Given the description of an element on the screen output the (x, y) to click on. 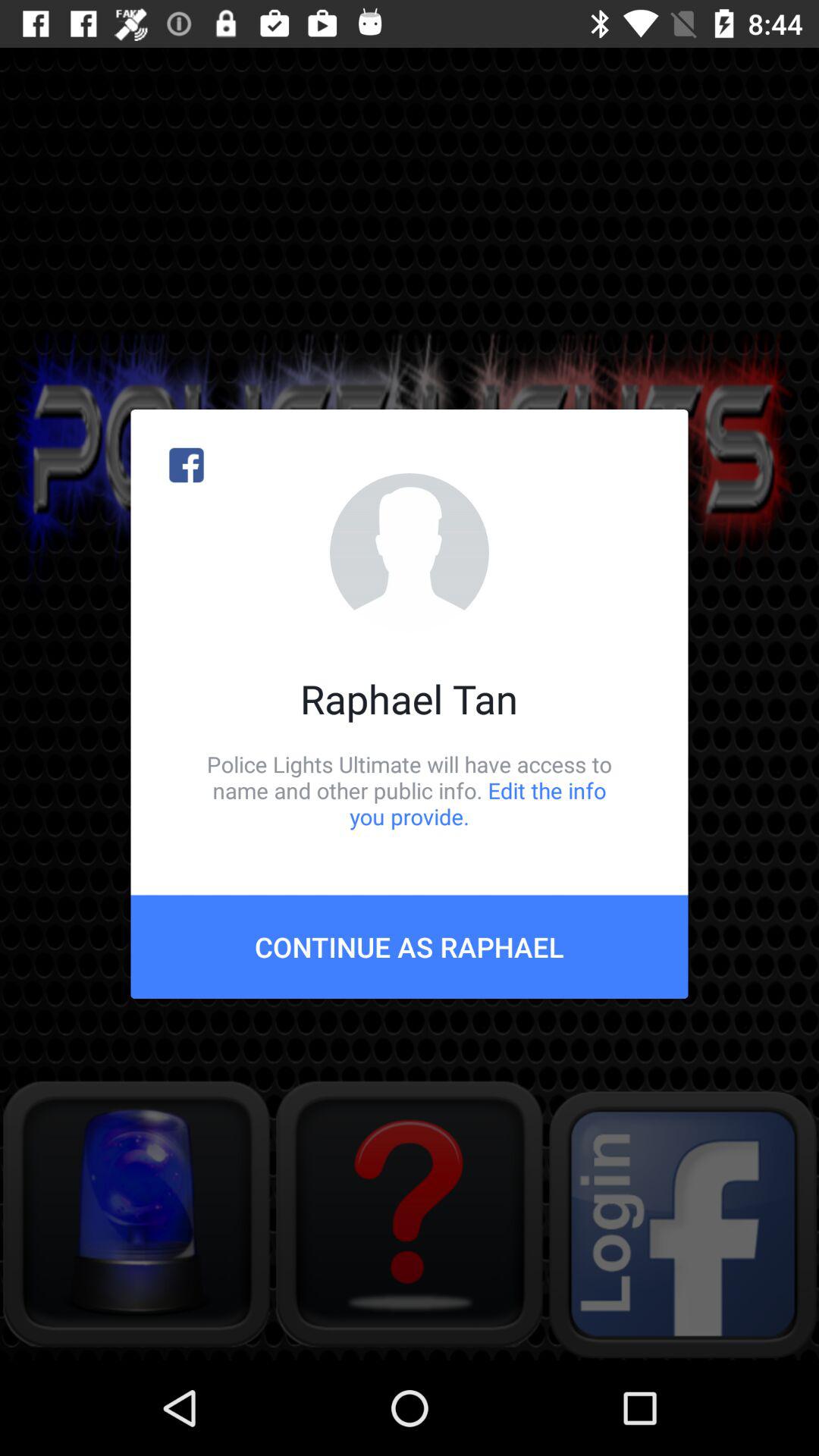
open the police lights ultimate (409, 790)
